Given the description of an element on the screen output the (x, y) to click on. 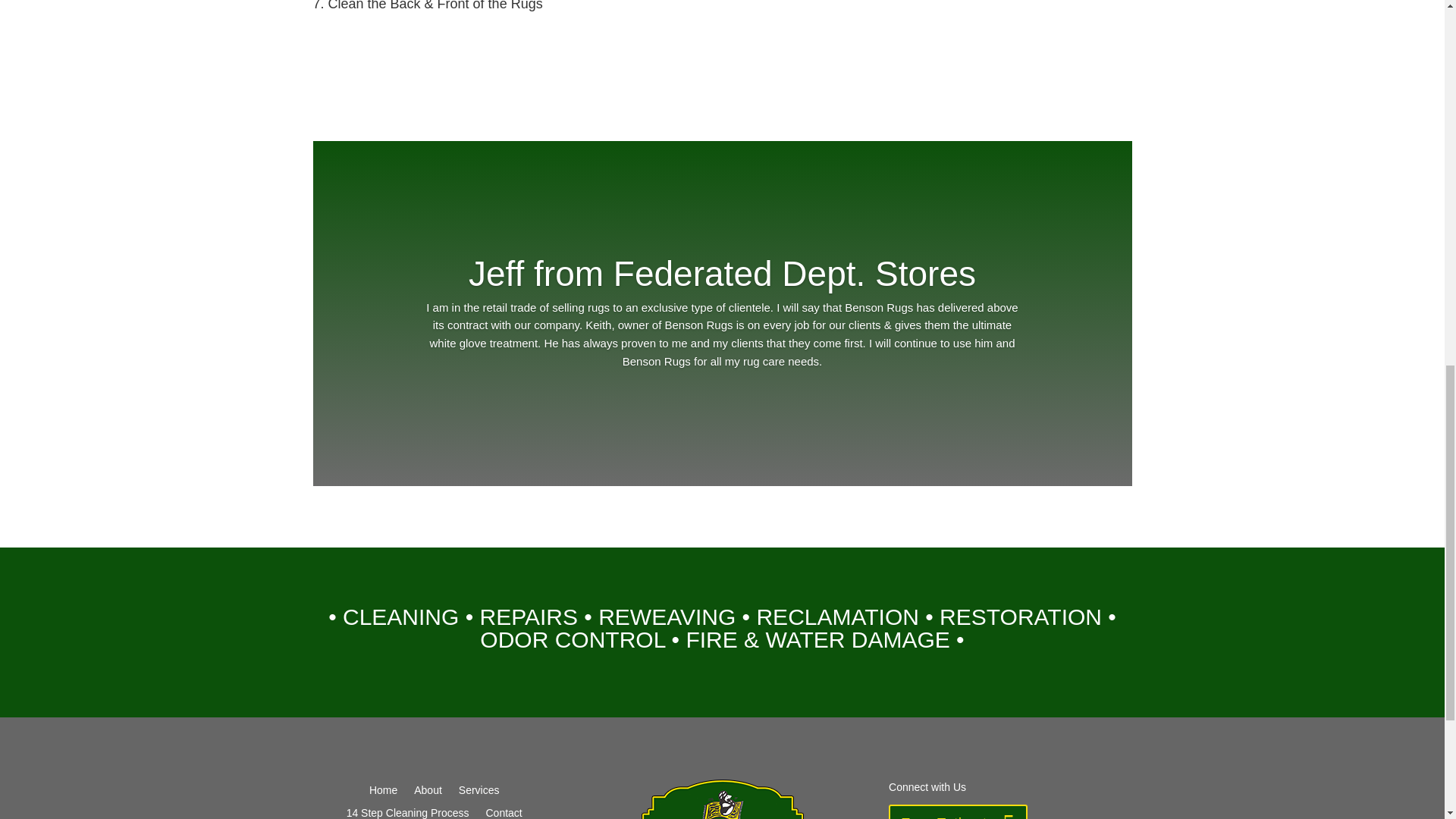
About (427, 792)
Free Estimate (957, 811)
Contact (502, 813)
benson rugs logo 215 (721, 798)
Home (383, 792)
14 Step Cleaning Process (407, 813)
Services (478, 792)
